Given the description of an element on the screen output the (x, y) to click on. 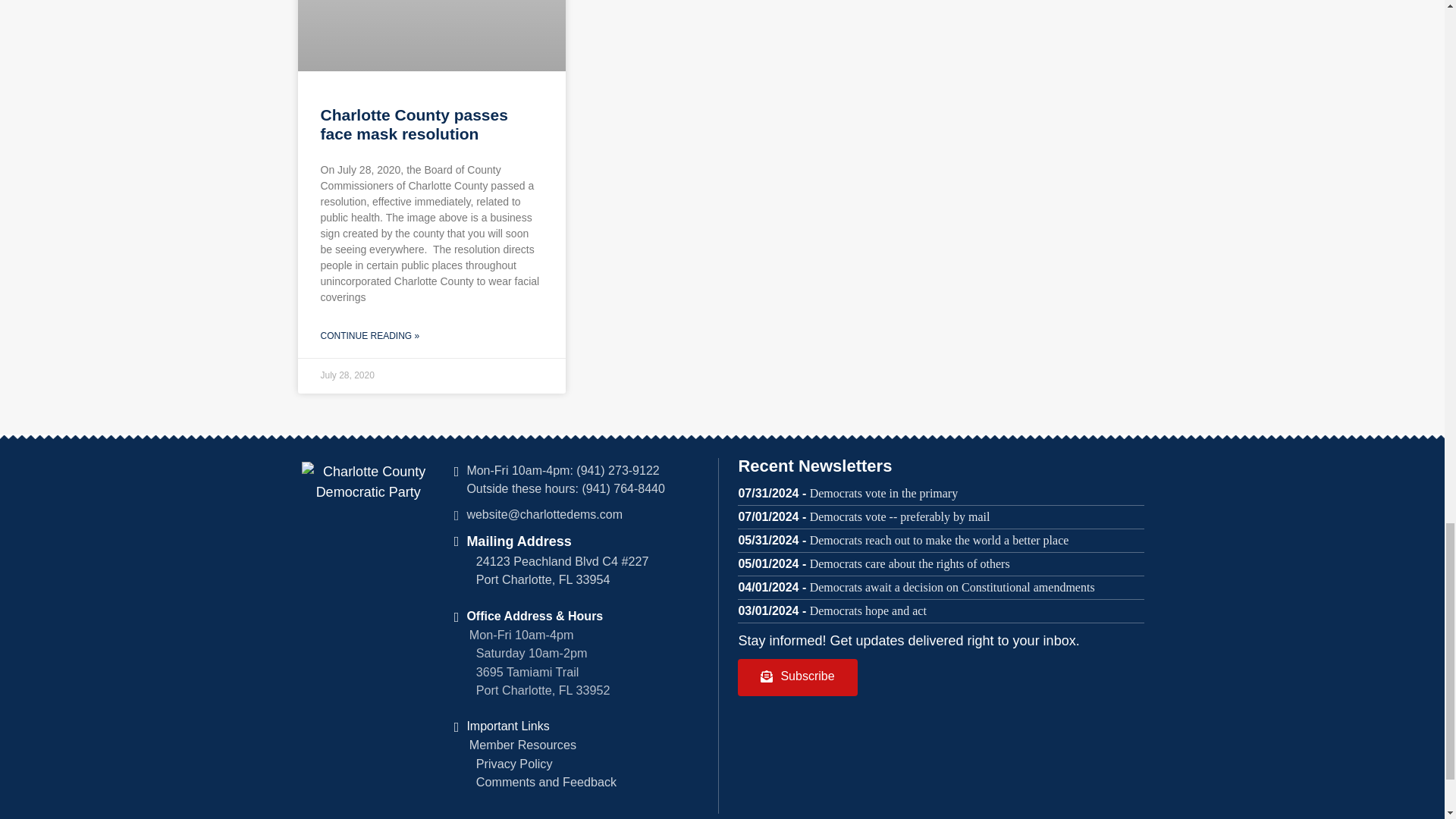
Democrats care about the rights of others (909, 563)
Democrats vote in the primary (883, 492)
Democrats reach out to make the world a better place (938, 540)
Democrats hope and act (867, 610)
Democrats await a decision on Constitutional amendments (951, 586)
Democrats vote -- preferably by mail (899, 516)
